Given the description of an element on the screen output the (x, y) to click on. 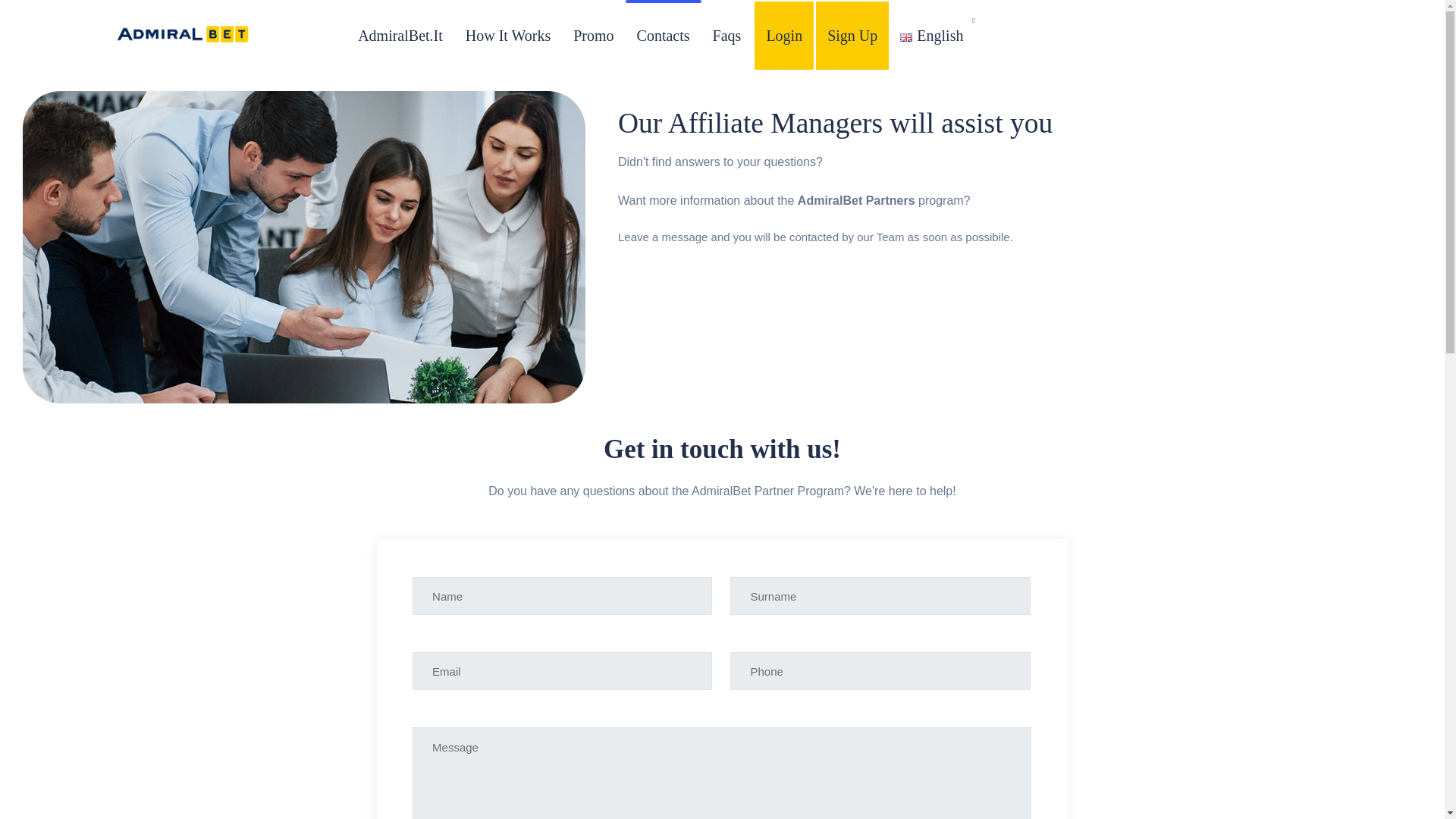
English (931, 35)
Sign Up (851, 35)
Contacts (663, 35)
How It Works (508, 35)
AdmiralBet.It (400, 35)
Promo (593, 35)
